Given the description of an element on the screen output the (x, y) to click on. 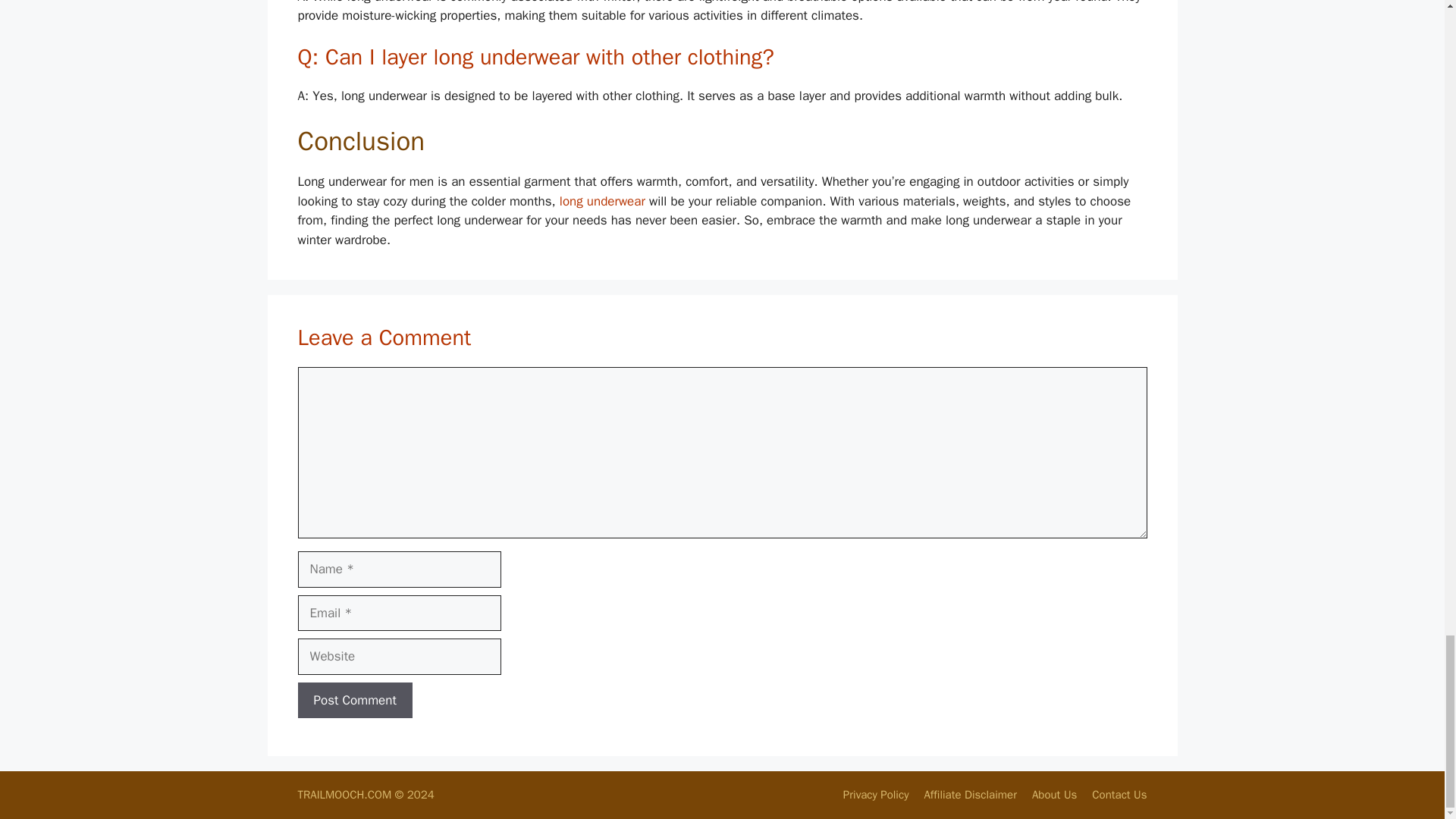
long underwear (602, 201)
Post Comment (354, 700)
Privacy Policy (875, 794)
Post Comment (354, 700)
